Given the description of an element on the screen output the (x, y) to click on. 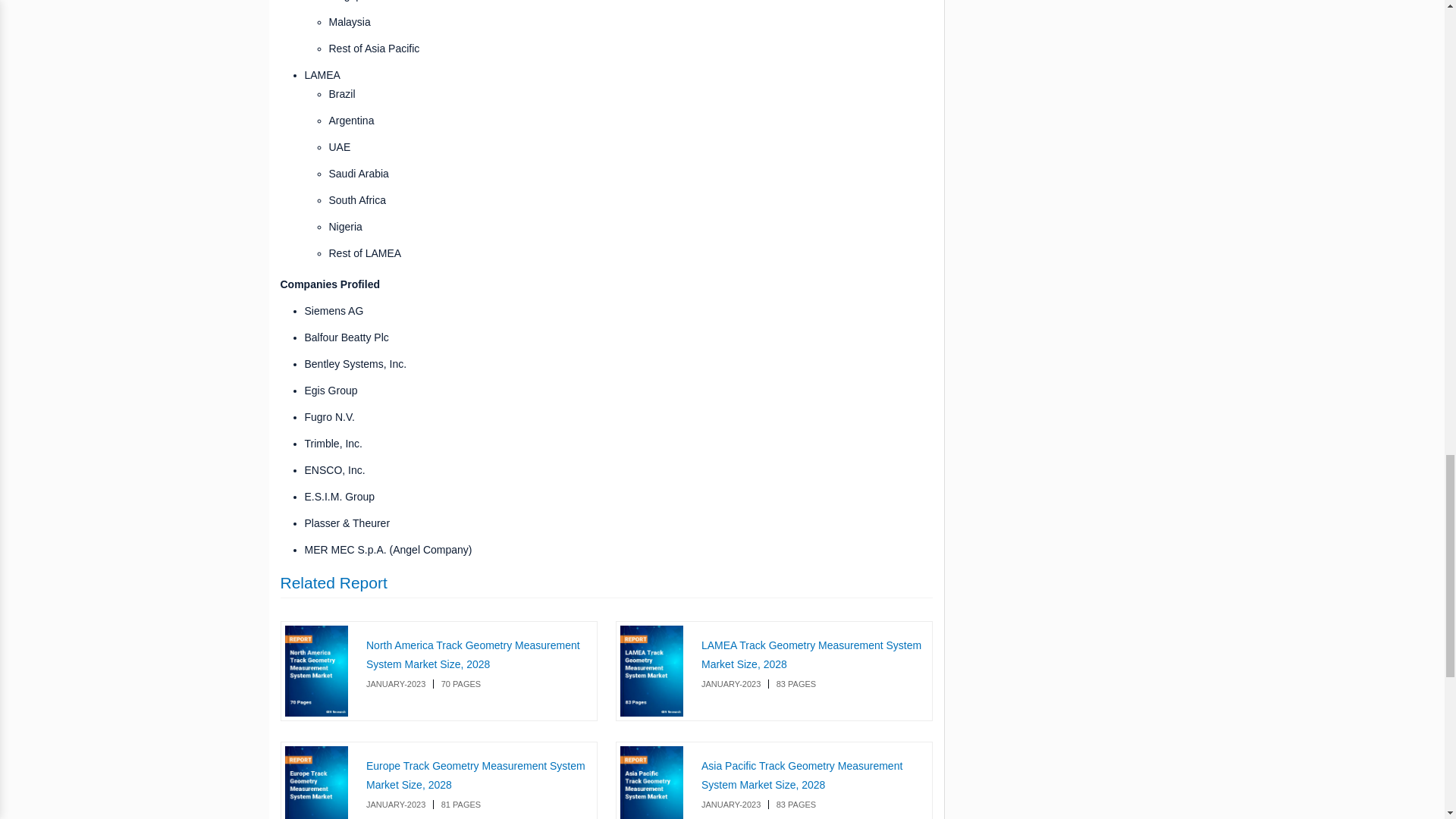
LAMEA Track Geometry Measurement System Market (811, 654)
North America Track Geometry Measurement System Market (472, 654)
LAMEA Track Geometry Measurement System Market (652, 671)
Asia Pacific Track Geometry Measurement System Market (652, 782)
Europe Track Geometry Measurement System Market (475, 775)
Europe Track Geometry Measurement System Market (317, 782)
North America Track Geometry Measurement System Market (317, 671)
Asia Pacific Track Geometry Measurement System Market (801, 775)
